Given the description of an element on the screen output the (x, y) to click on. 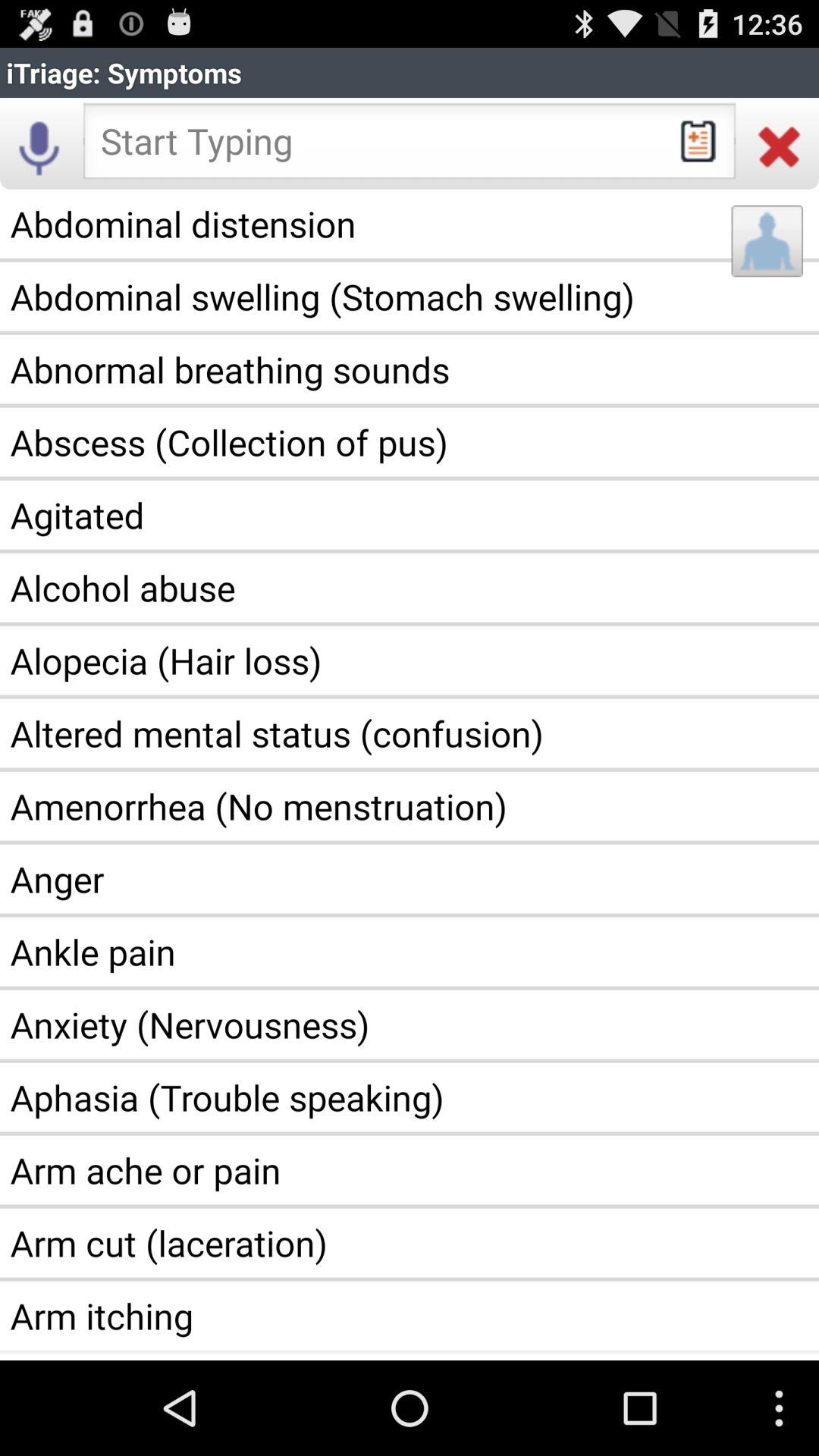
choose the icon at the top left corner (39, 145)
